Given the description of an element on the screen output the (x, y) to click on. 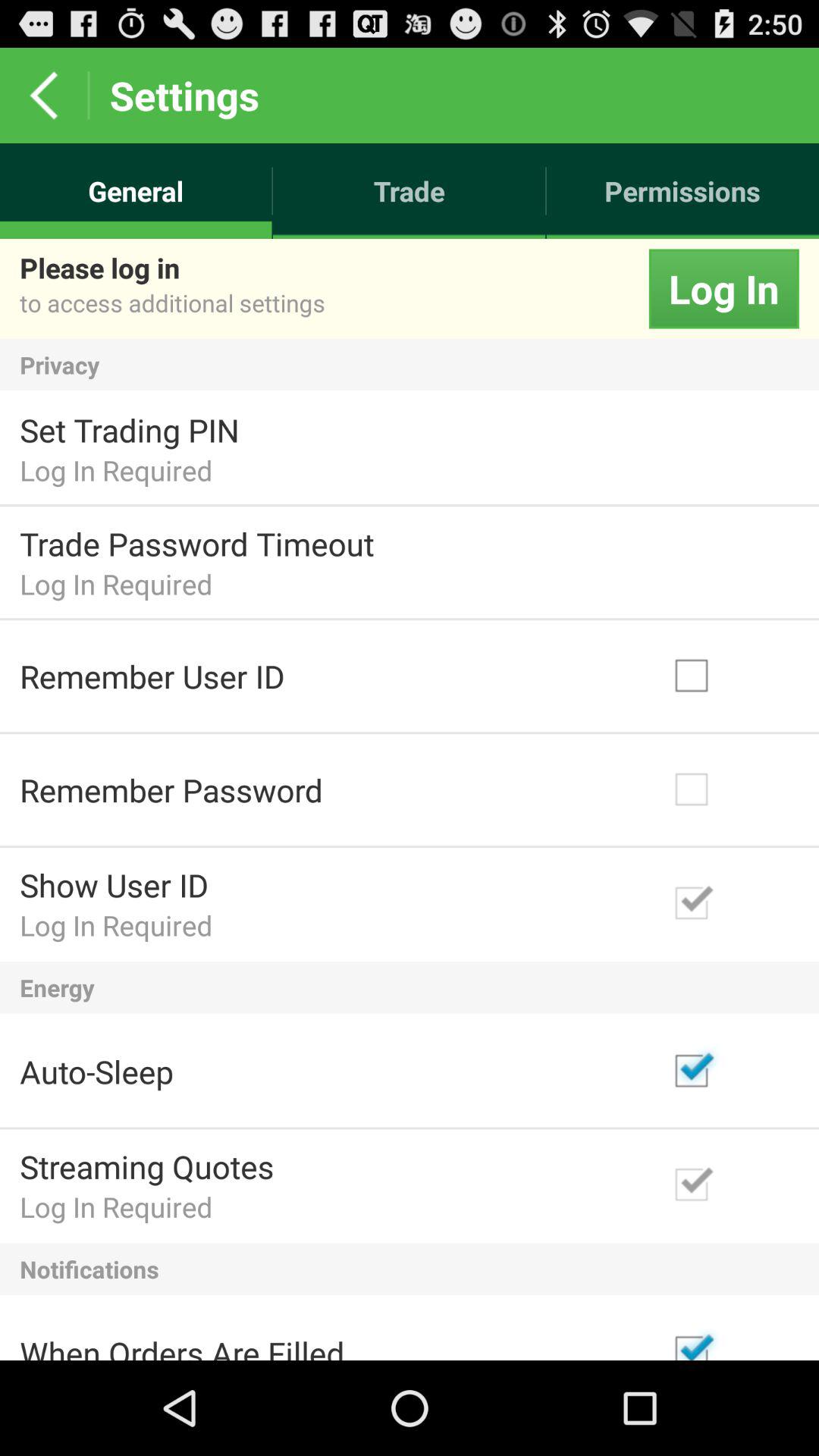
tap item below the auto-sleep app (146, 1166)
